Given the description of an element on the screen output the (x, y) to click on. 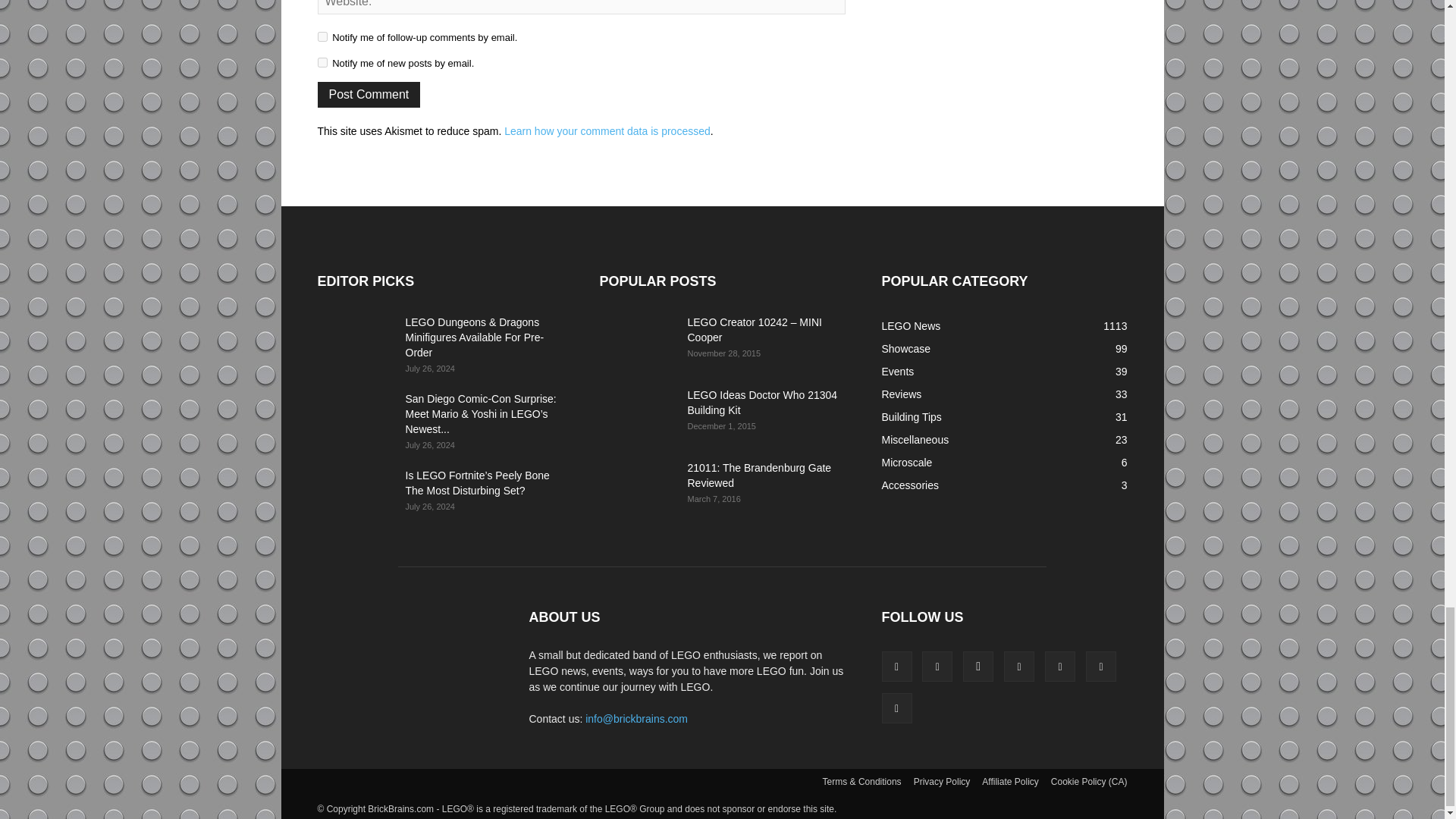
subscribe (321, 36)
subscribe (321, 62)
Post Comment (368, 94)
